Given the description of an element on the screen output the (x, y) to click on. 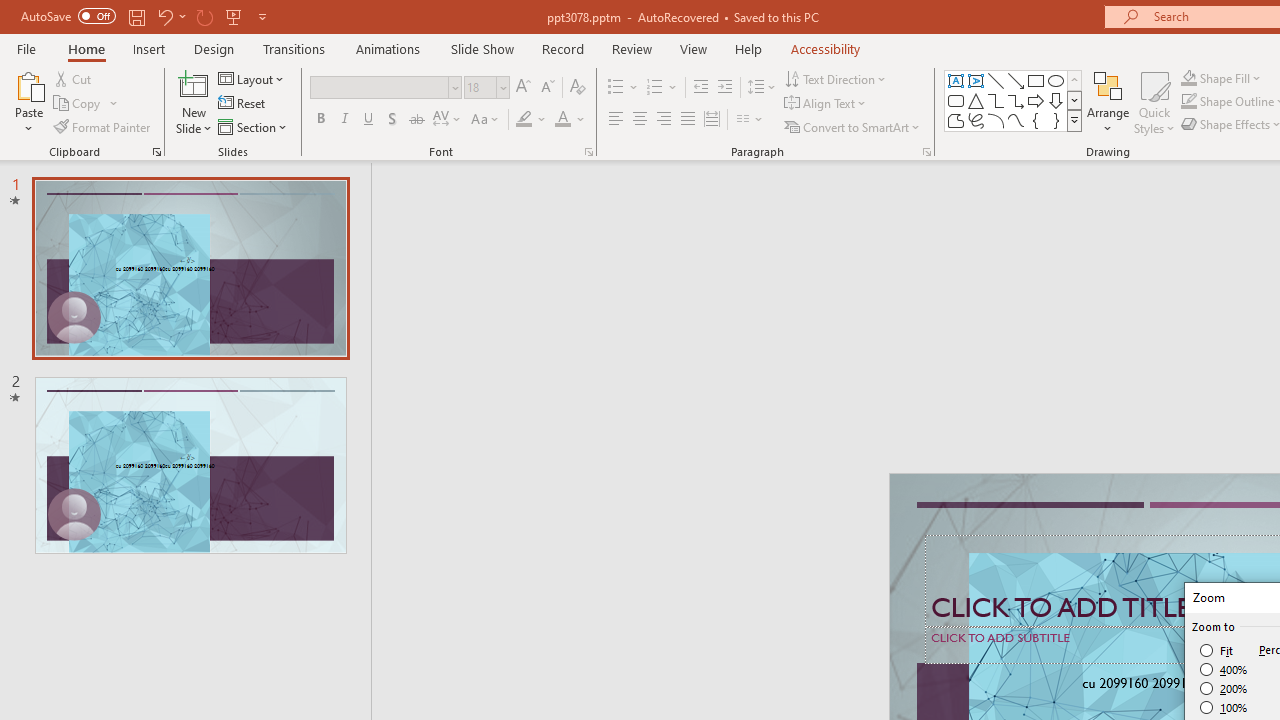
Decrease Font Size (547, 87)
Justify (687, 119)
Paragraph... (926, 151)
Fit (1217, 650)
Convert to SmartArt (853, 126)
